Given the description of an element on the screen output the (x, y) to click on. 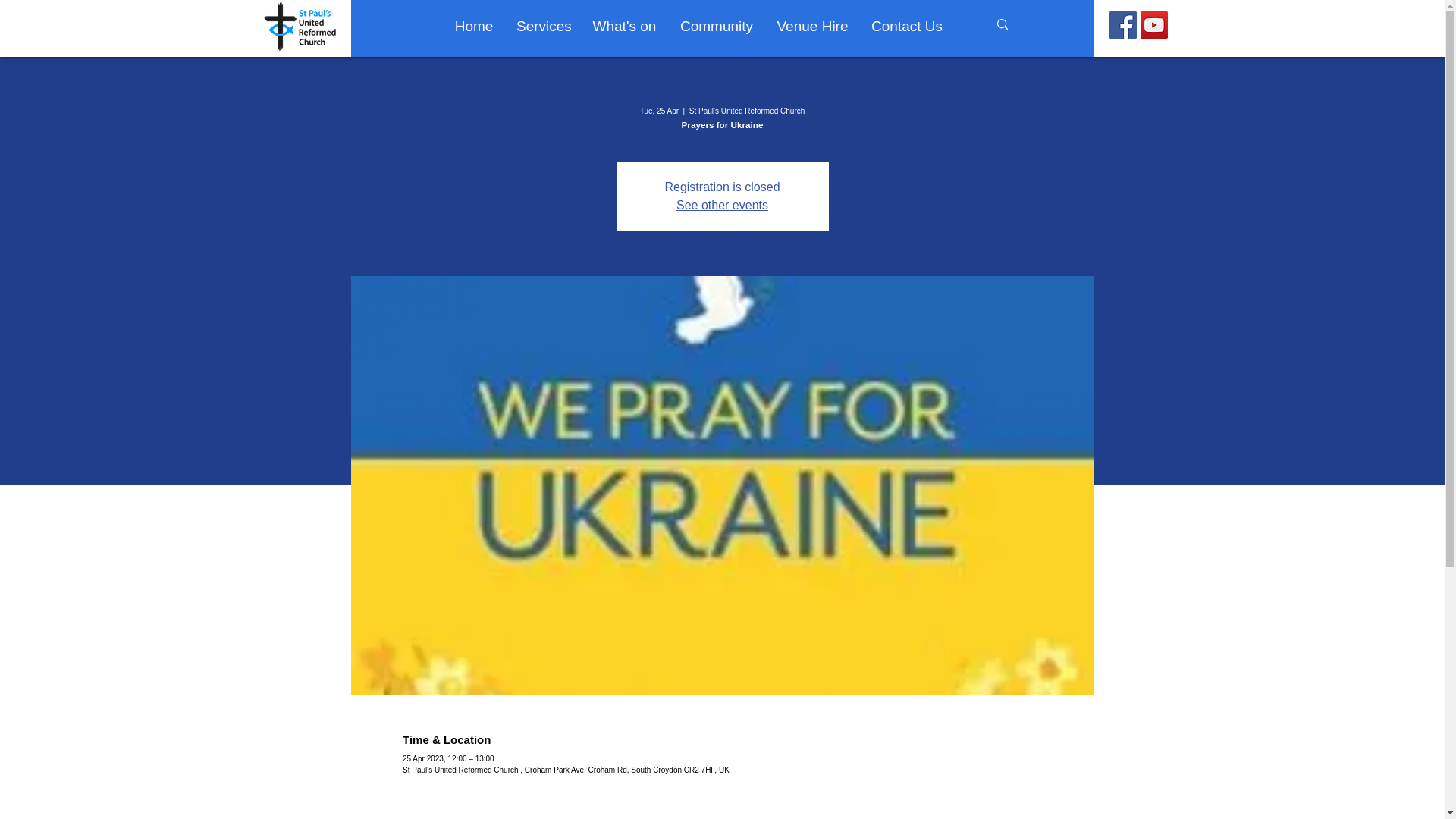
Services (542, 26)
Community (716, 26)
Home (473, 26)
Contact Us (906, 26)
What's on (624, 26)
Venue Hire (812, 26)
